Given the description of an element on the screen output the (x, y) to click on. 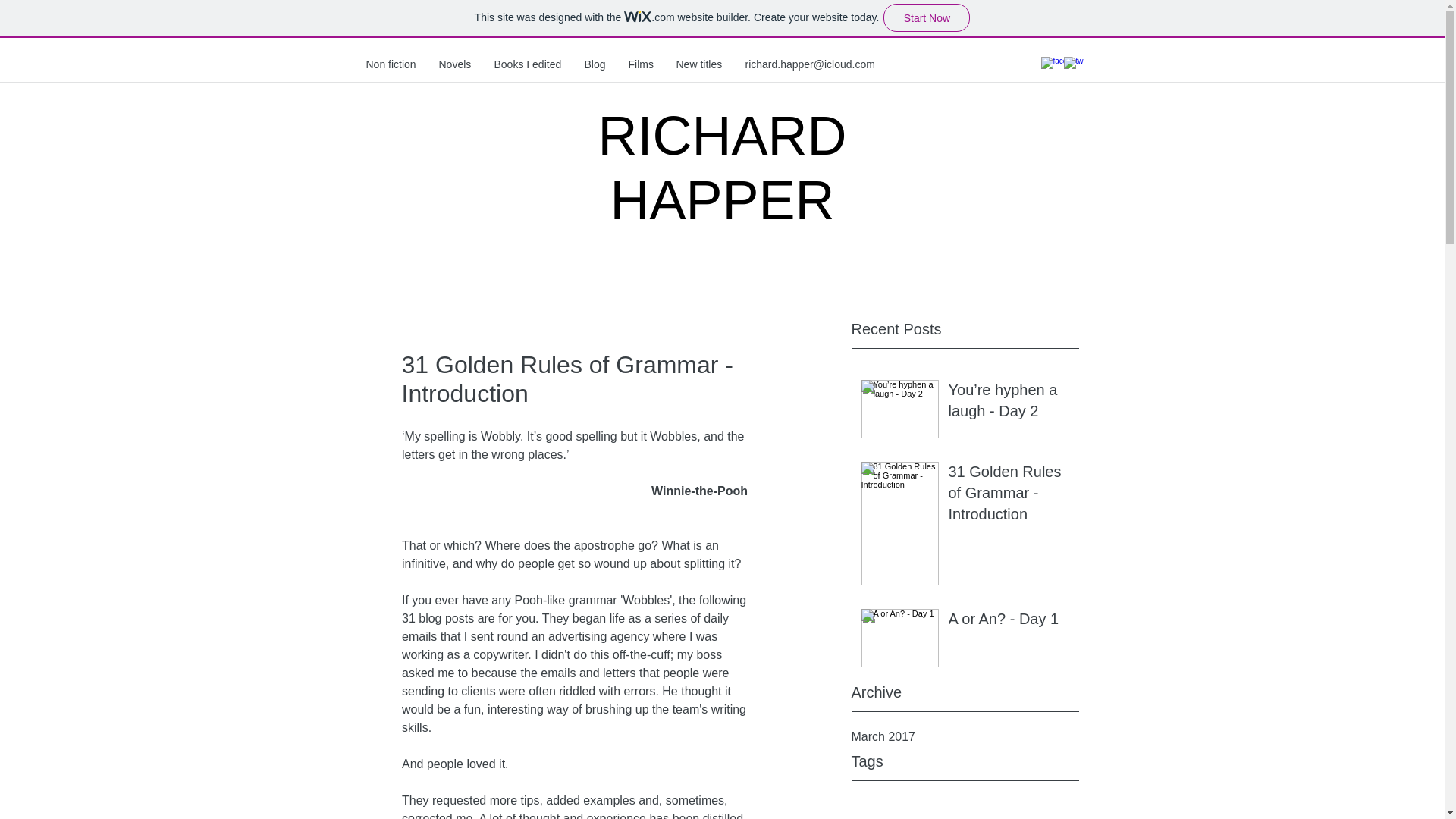
Blog (595, 64)
Non fiction (391, 64)
31 Golden Rules of Grammar - Introduction (1007, 495)
New titles (698, 64)
Films (641, 64)
Novels (455, 64)
March 2017 (964, 737)
Books I edited (526, 64)
A or An? - Day 1 (1007, 621)
